Given the description of an element on the screen output the (x, y) to click on. 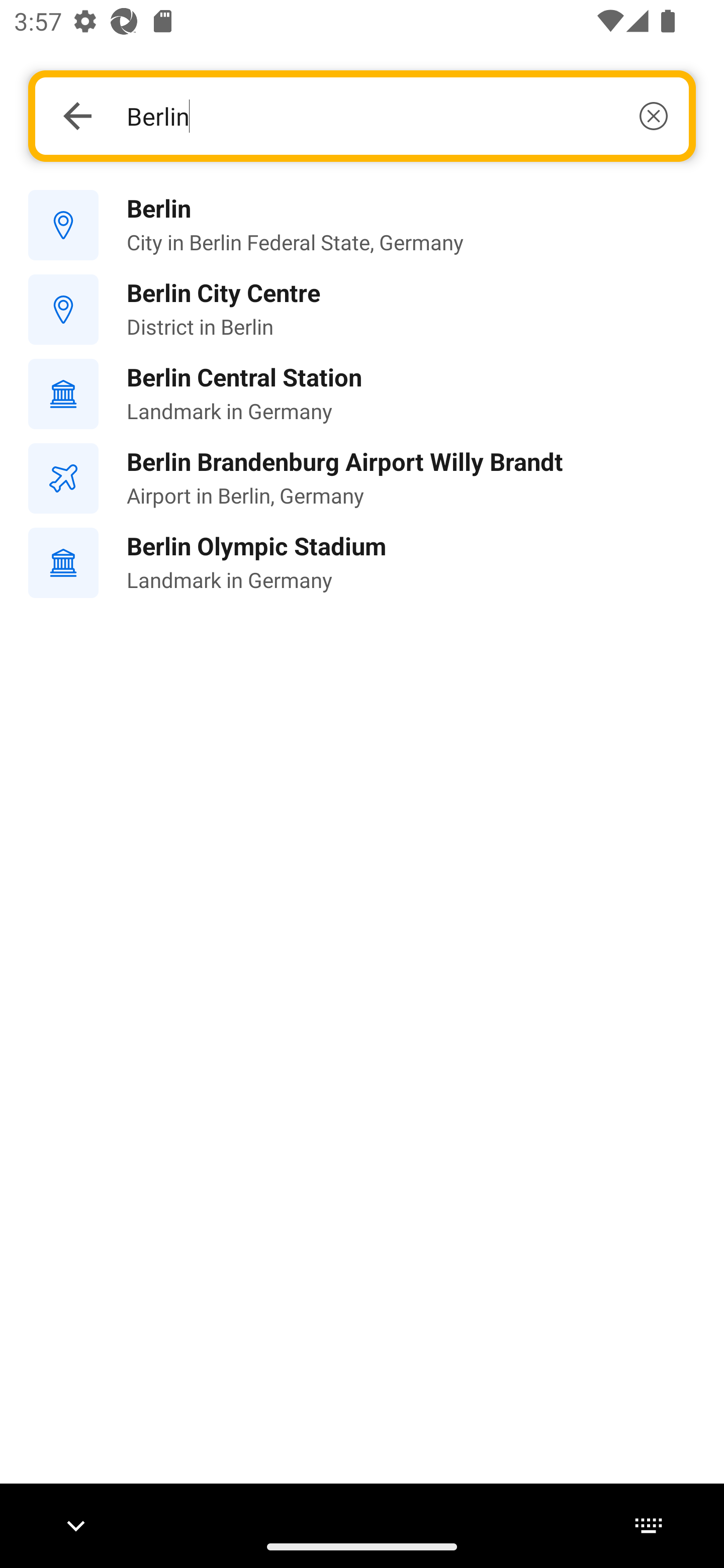
Berlin (396, 115)
Berlin City in Berlin Federal State, Germany (362, 225)
Berlin City Centre District in Berlin (362, 309)
Berlin Central Station Landmark in Germany (362, 393)
Berlin Olympic Stadium Landmark in Germany (362, 562)
